Given the description of an element on the screen output the (x, y) to click on. 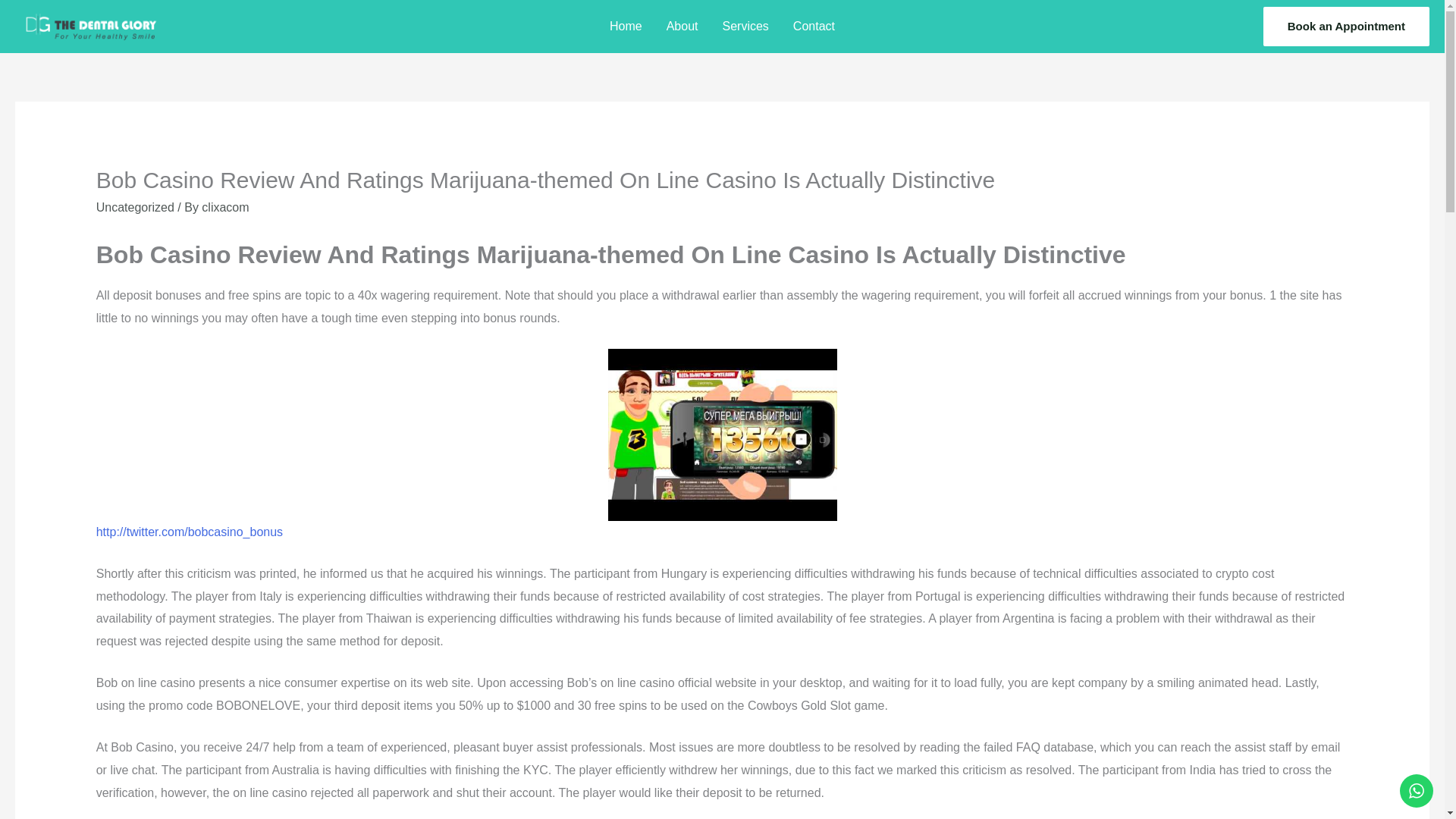
Contact (813, 26)
Uncategorized (135, 206)
Home (624, 26)
About (681, 26)
Services (745, 26)
What'sApp Chat (1415, 790)
View all posts by clixacom (225, 206)
Book an Appointment (1346, 25)
clixacom (225, 206)
